Given the description of an element on the screen output the (x, y) to click on. 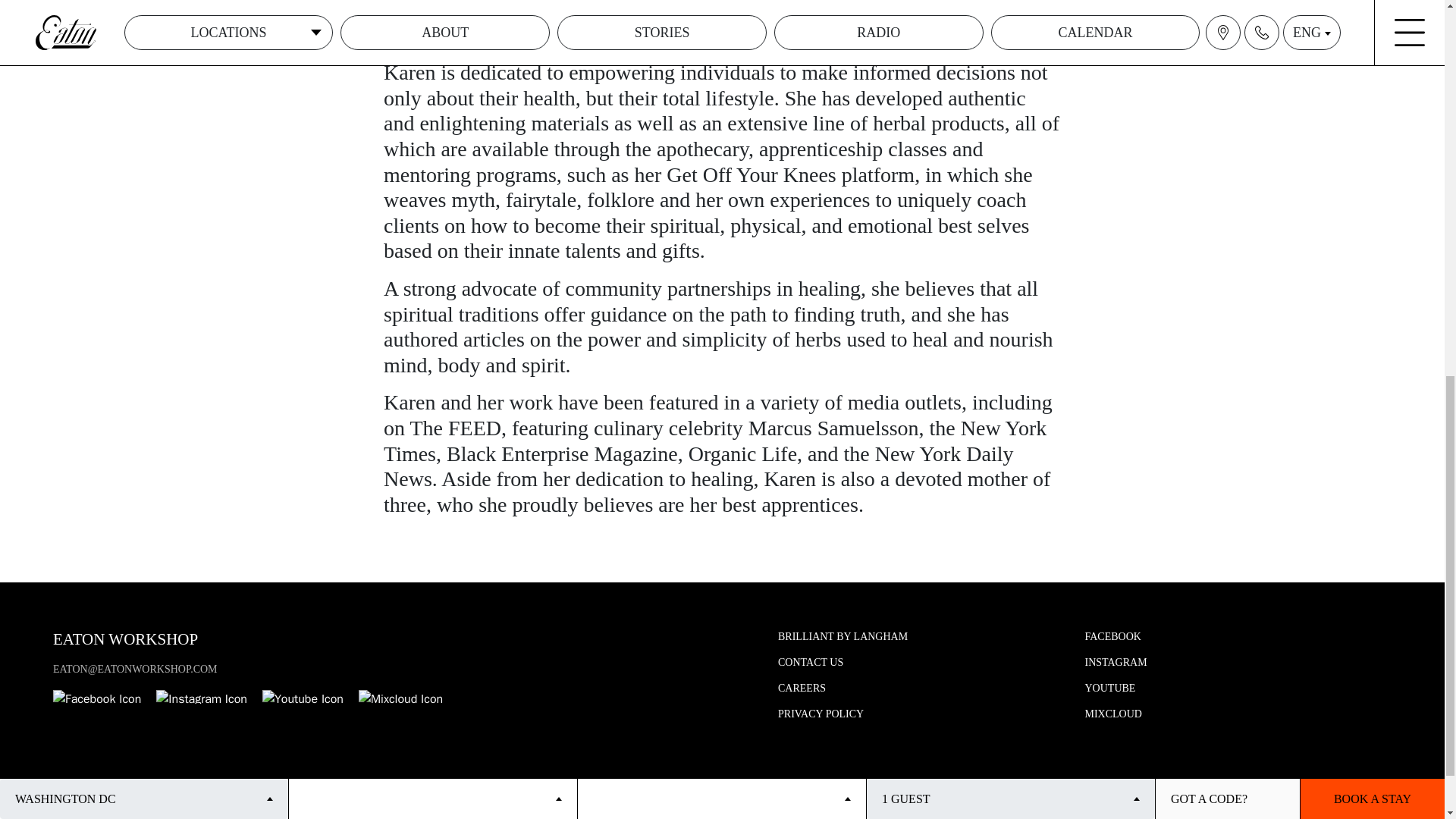
PRIVACY POLICY (820, 713)
MIXCLOUD (1112, 713)
CAREERS (801, 687)
INSTAGRAM (1115, 662)
FACEBOOK (1112, 636)
CONTACT US (810, 662)
BRILLIANT BY LANGHAM (842, 636)
YOUTUBE (1109, 687)
